Given the description of an element on the screen output the (x, y) to click on. 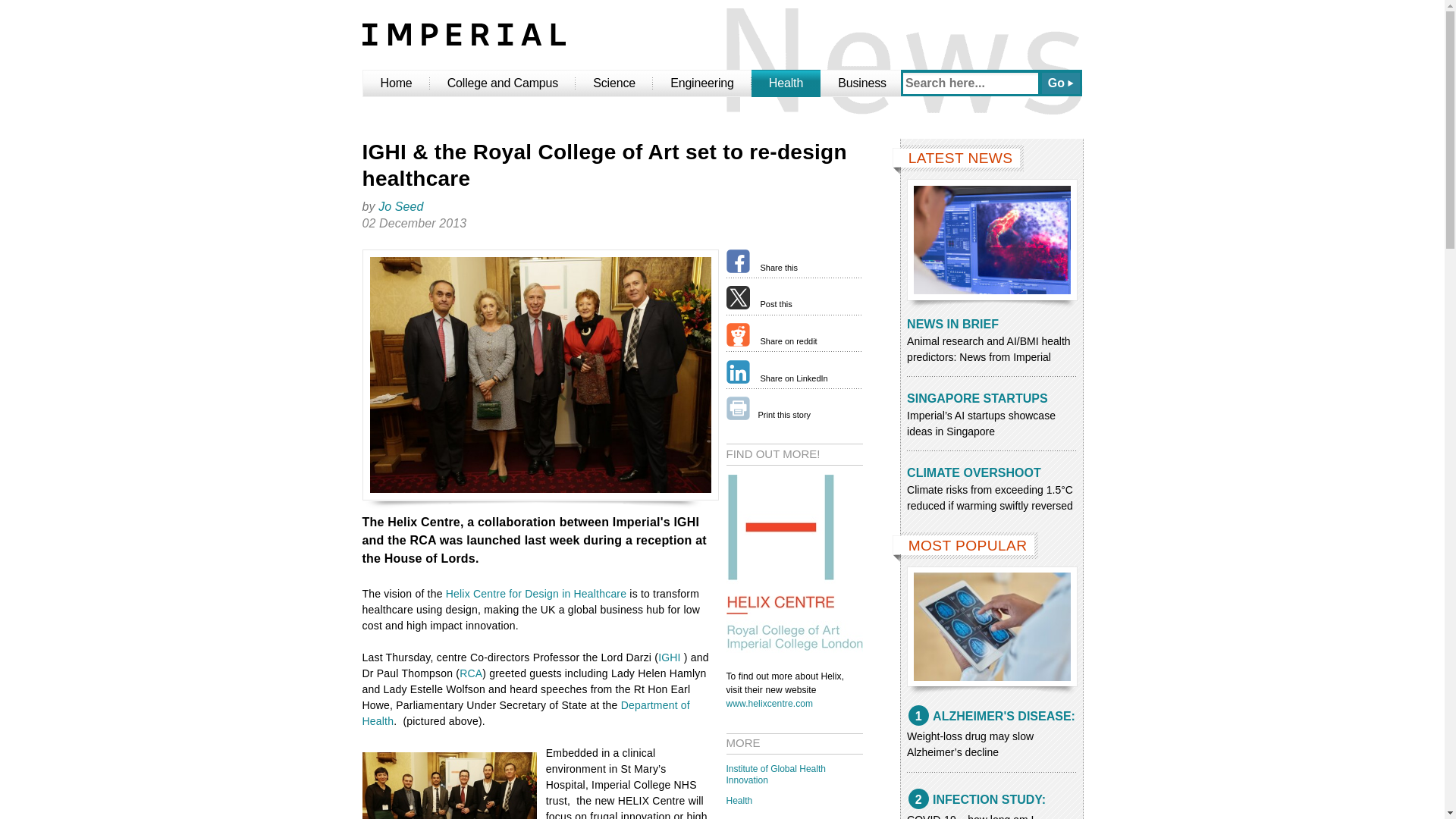
Department of Health (526, 713)
Helix Centre for Design in Healthcare (536, 593)
College and Campus (502, 83)
Science (613, 83)
Jo Seed (400, 205)
IGHI (669, 657)
Home (395, 83)
RCA (470, 673)
Some of the Helix designers (449, 785)
